Given the description of an element on the screen output the (x, y) to click on. 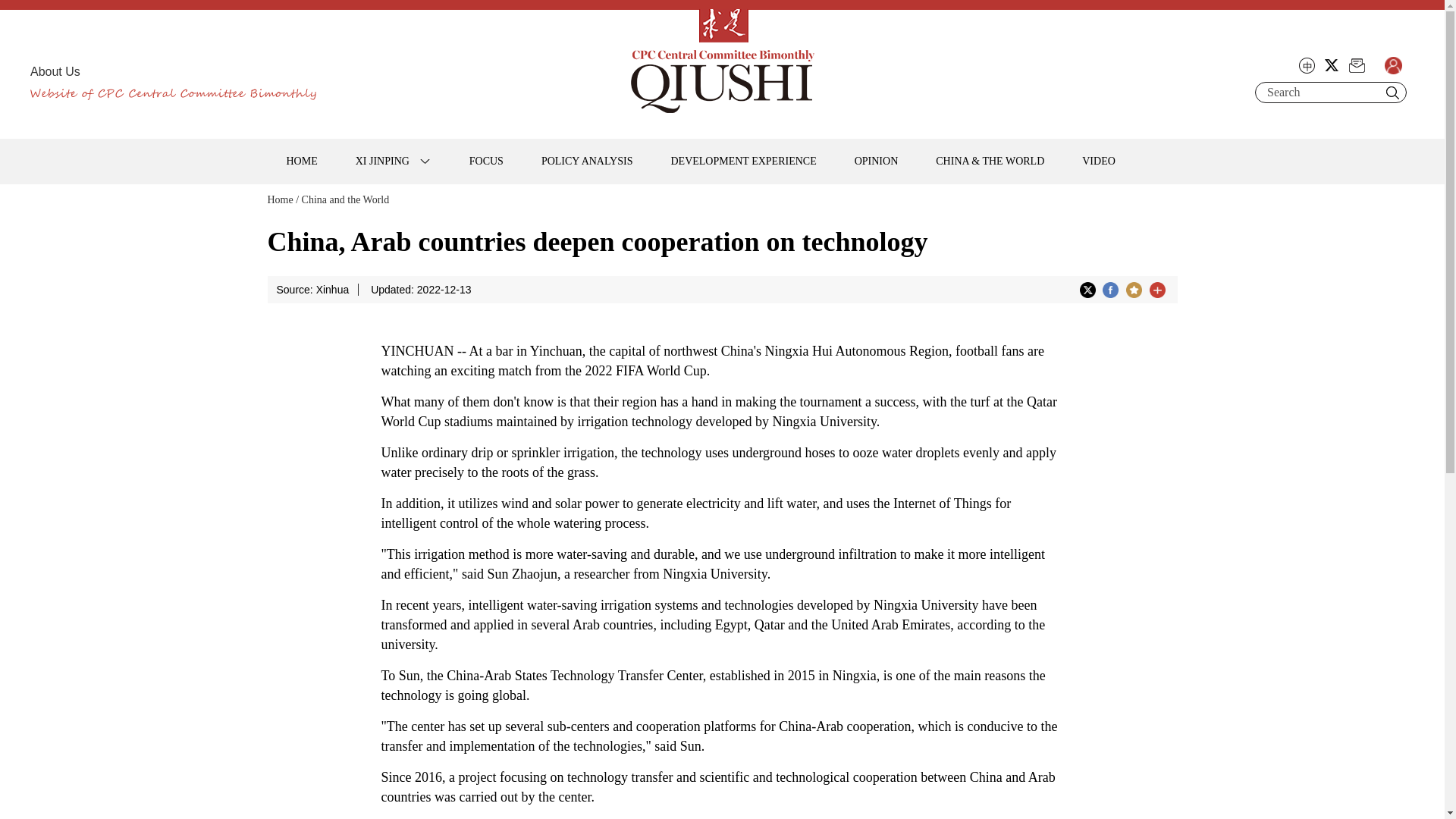
HOME (301, 161)
Search (1321, 92)
POLICY ANALYSIS (587, 161)
OPINION (876, 161)
FOCUS (485, 161)
China and the World (345, 199)
About Us (55, 71)
Search (1392, 92)
XI JINPING (392, 161)
VIDEO (1098, 161)
DEVELOPMENT EXPERIENCE (742, 161)
